Given the description of an element on the screen output the (x, y) to click on. 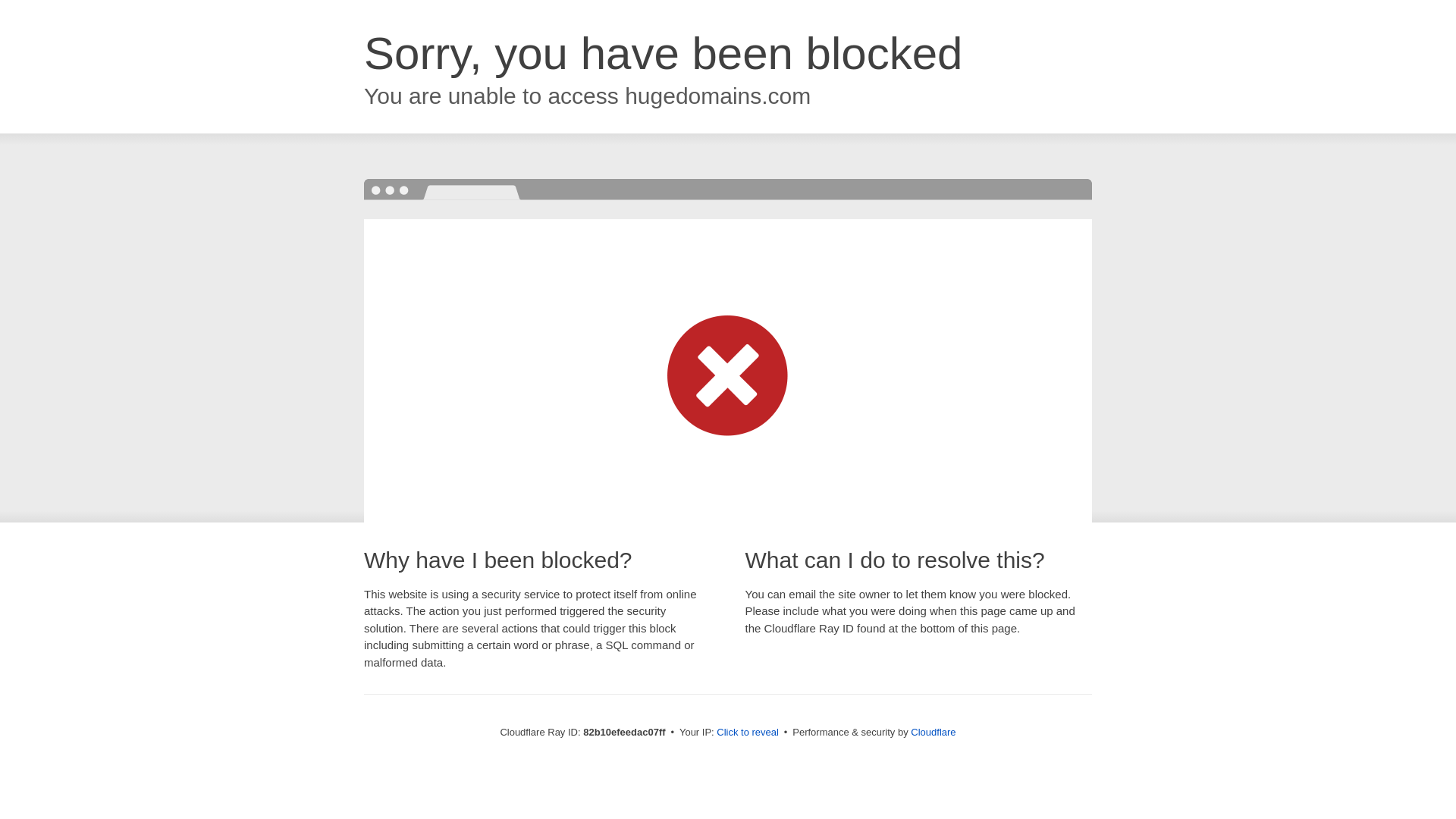
Click to reveal Element type: text (747, 732)
Cloudflare Element type: text (932, 731)
